Given the description of an element on the screen output the (x, y) to click on. 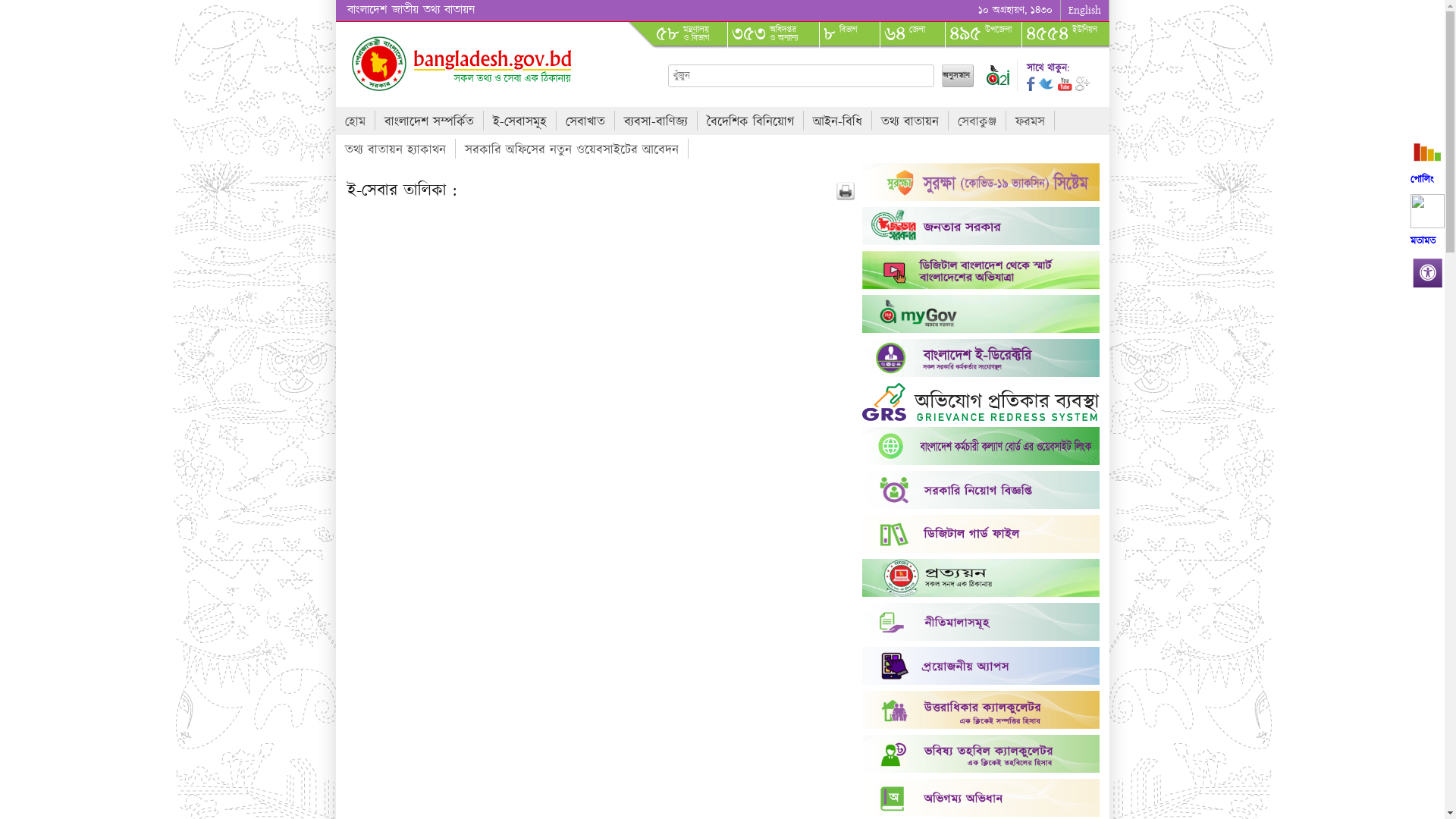
English Element type: text (1083, 10)
